Given the description of an element on the screen output the (x, y) to click on. 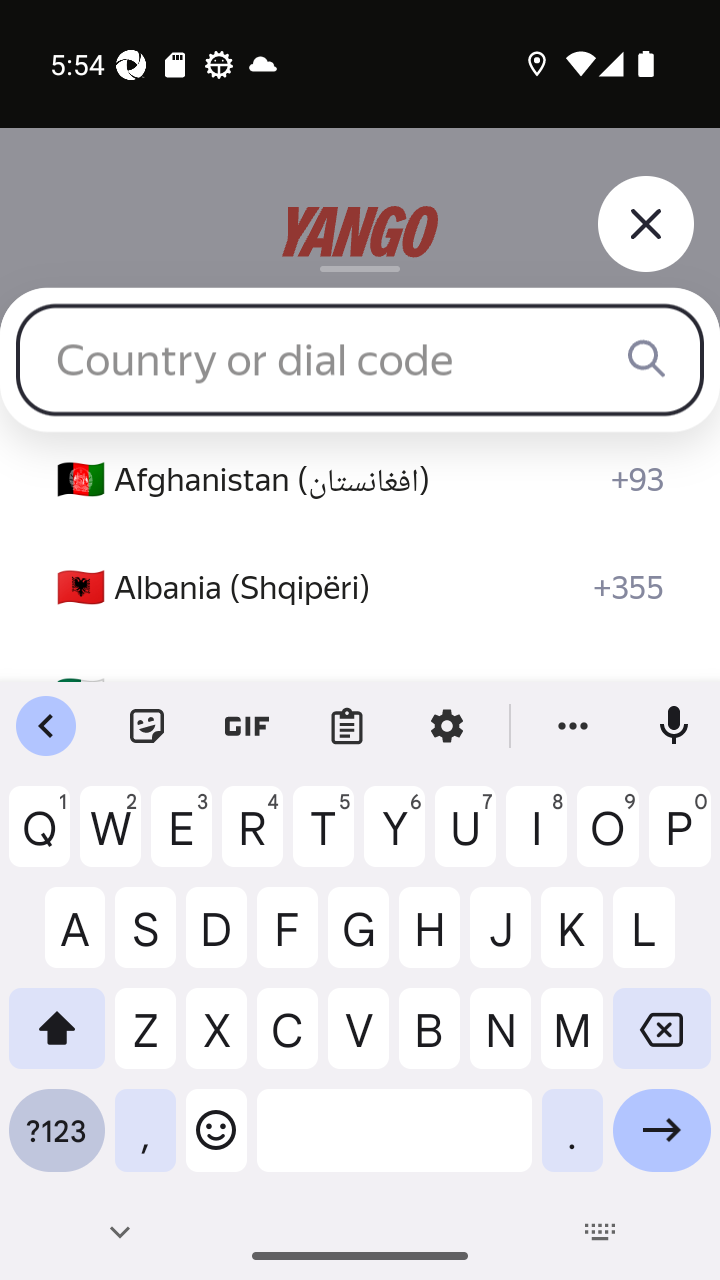
logo (359, 231)
🇦🇫 Afghanistan (‫افغانستان‬‎) +93 (359, 479)
🇦🇱 Albania (Shqipëri) +355 (359, 588)
